Given the description of an element on the screen output the (x, y) to click on. 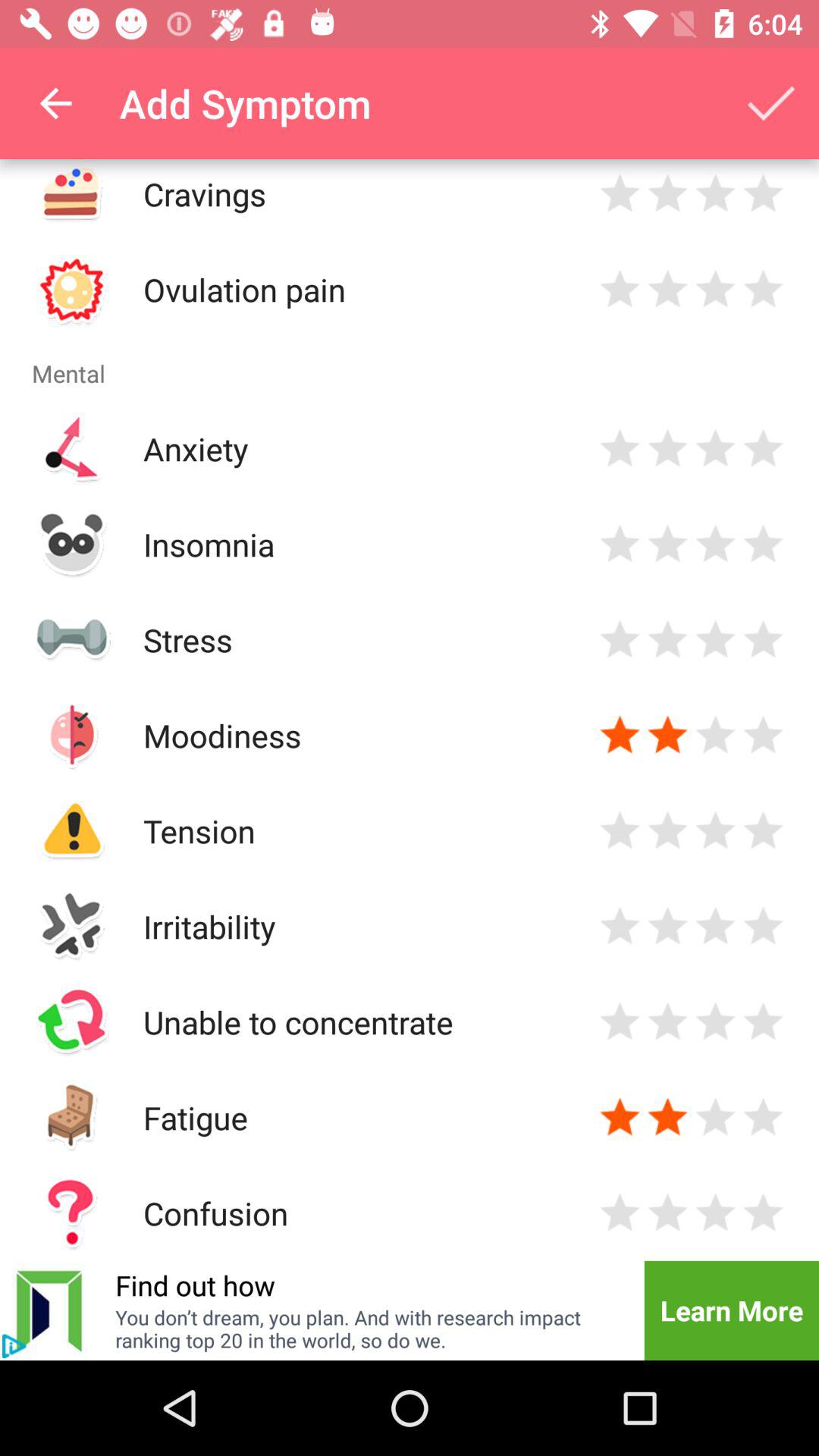
add specific feedback rate (715, 289)
